Given the description of an element on the screen output the (x, y) to click on. 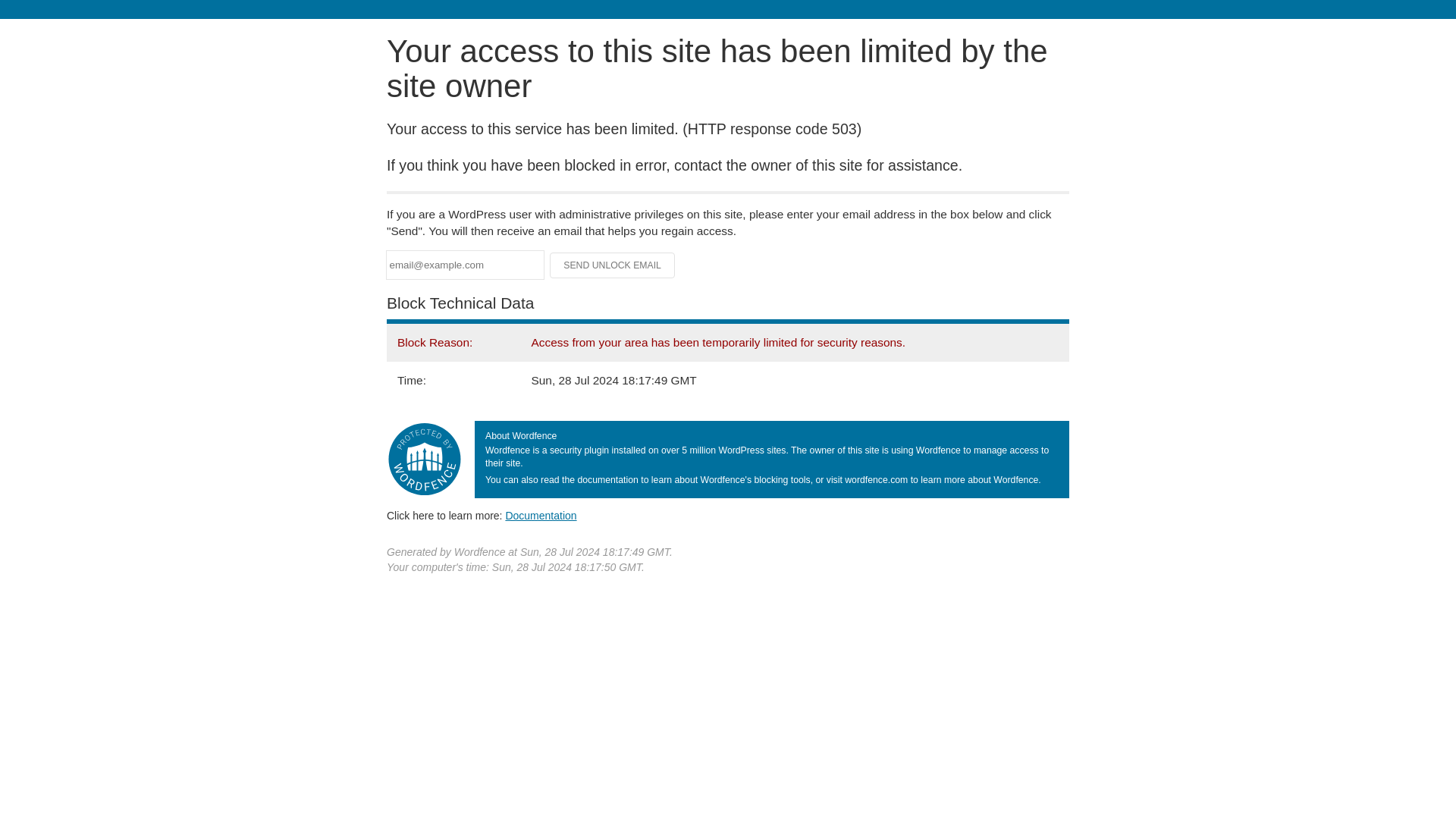
Send Unlock Email (612, 265)
Send Unlock Email (612, 265)
Documentation (540, 515)
